Given the description of an element on the screen output the (x, y) to click on. 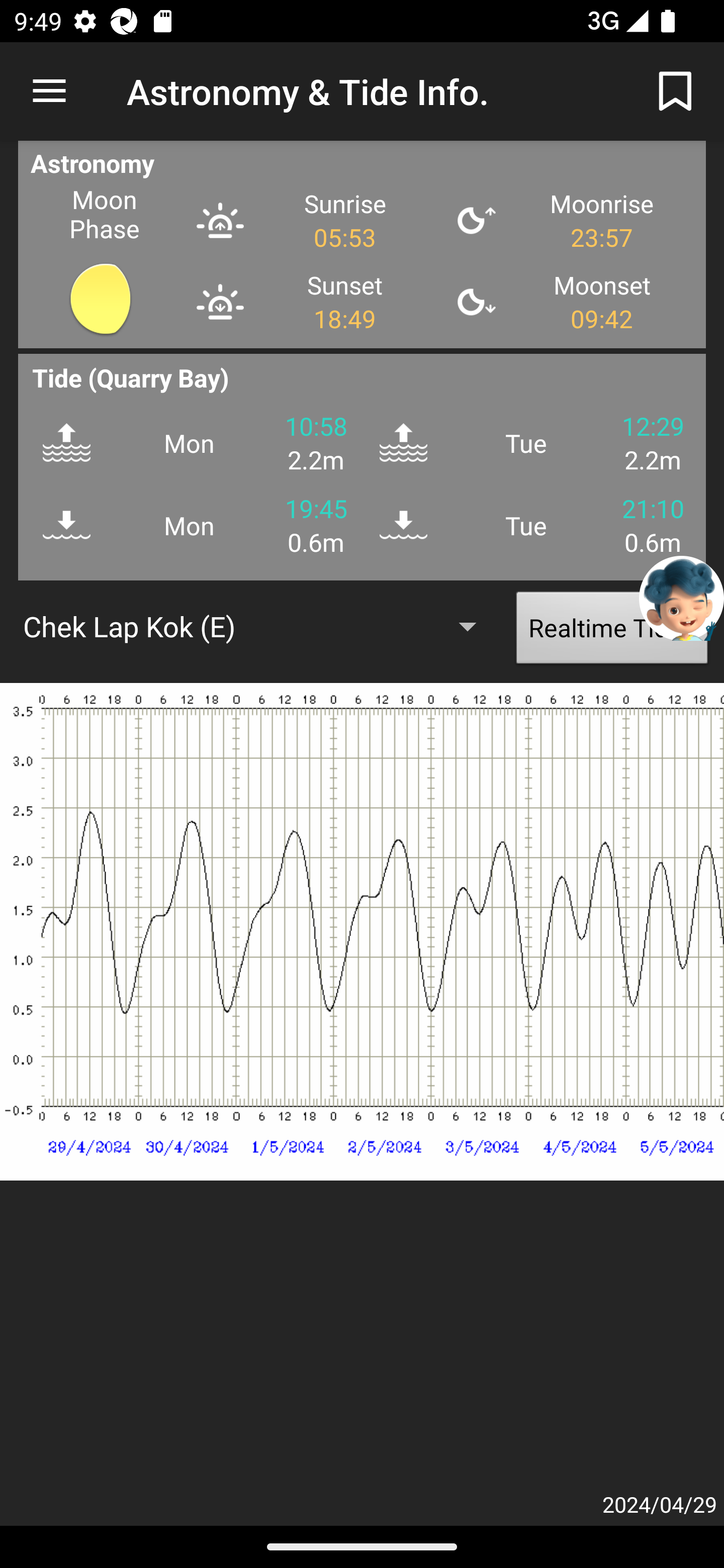
Navigate up (49, 91)
Bookmark not added (674, 90)
Chatbot (681, 598)
Realtime Tides (612, 631)
Chek Lap Kok (E) (258, 626)
